Given the description of an element on the screen output the (x, y) to click on. 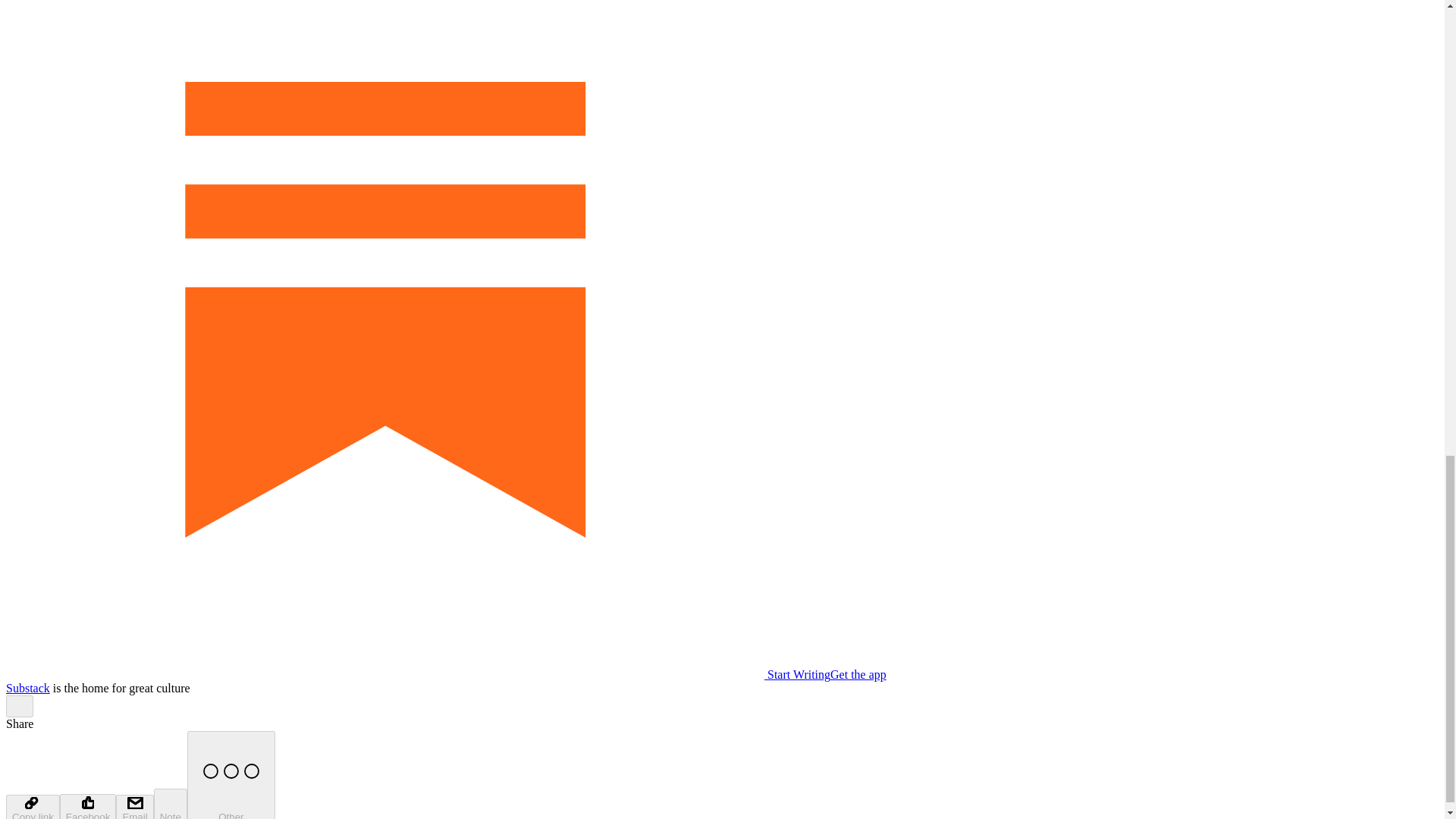
Start Writing (417, 674)
Get the app (857, 674)
Substack (27, 687)
